Given the description of an element on the screen output the (x, y) to click on. 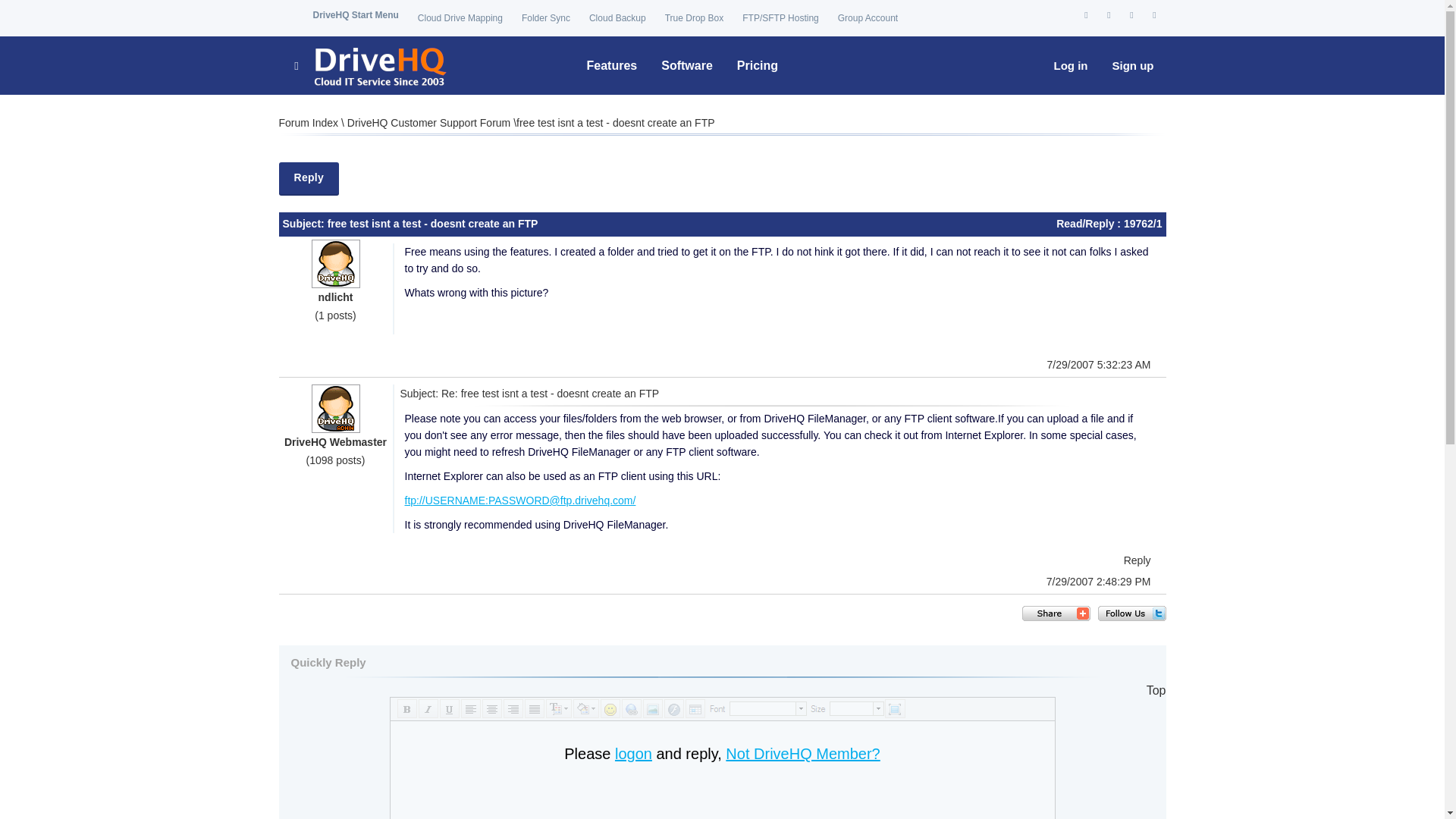
DriveHQ Cloud IT Service Home (369, 65)
Cloud Backup (617, 18)
Automatically back up PC, Mac and Server to the cloud (617, 18)
Complete FTP Server hosting solution (780, 18)
Folder Sync (545, 18)
True Drop Box (694, 18)
Cloud Drive Mapping (459, 18)
Group Account (868, 18)
DriveHQ Start Menu (355, 15)
